Given the description of an element on the screen output the (x, y) to click on. 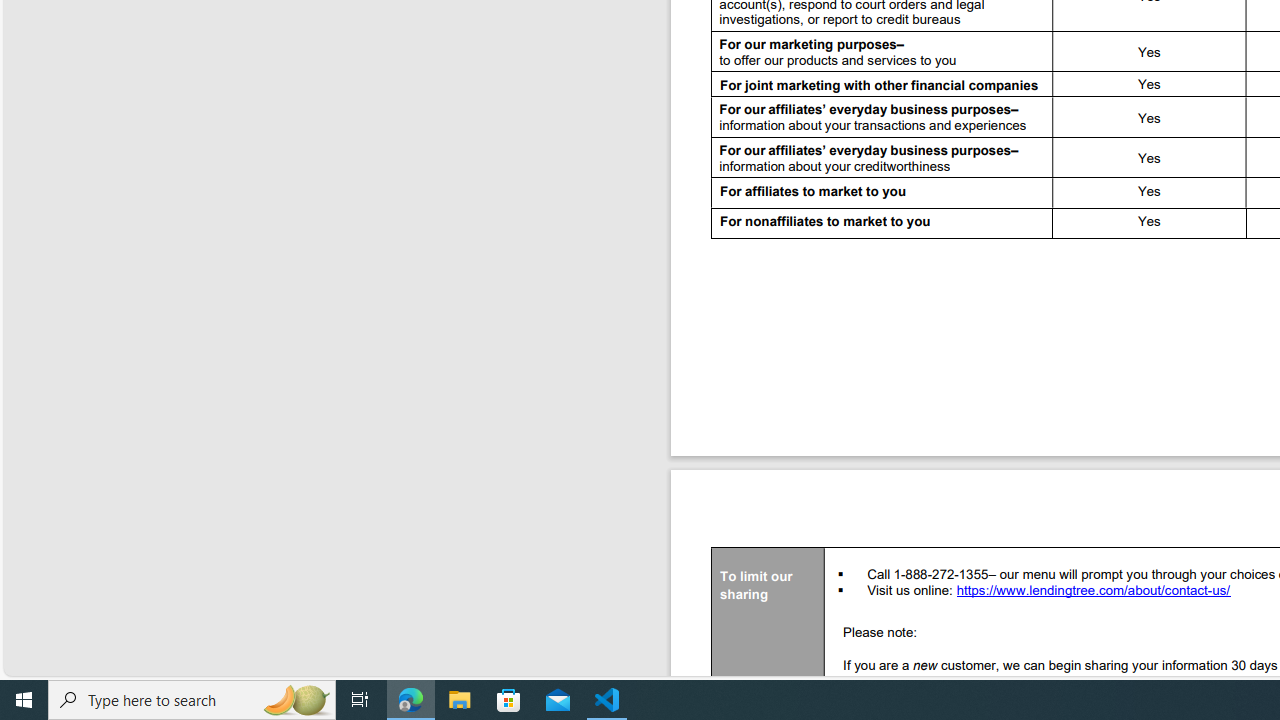
https://www.lendingtree.com/about/contact-us/ (1094, 591)
